Given the description of an element on the screen output the (x, y) to click on. 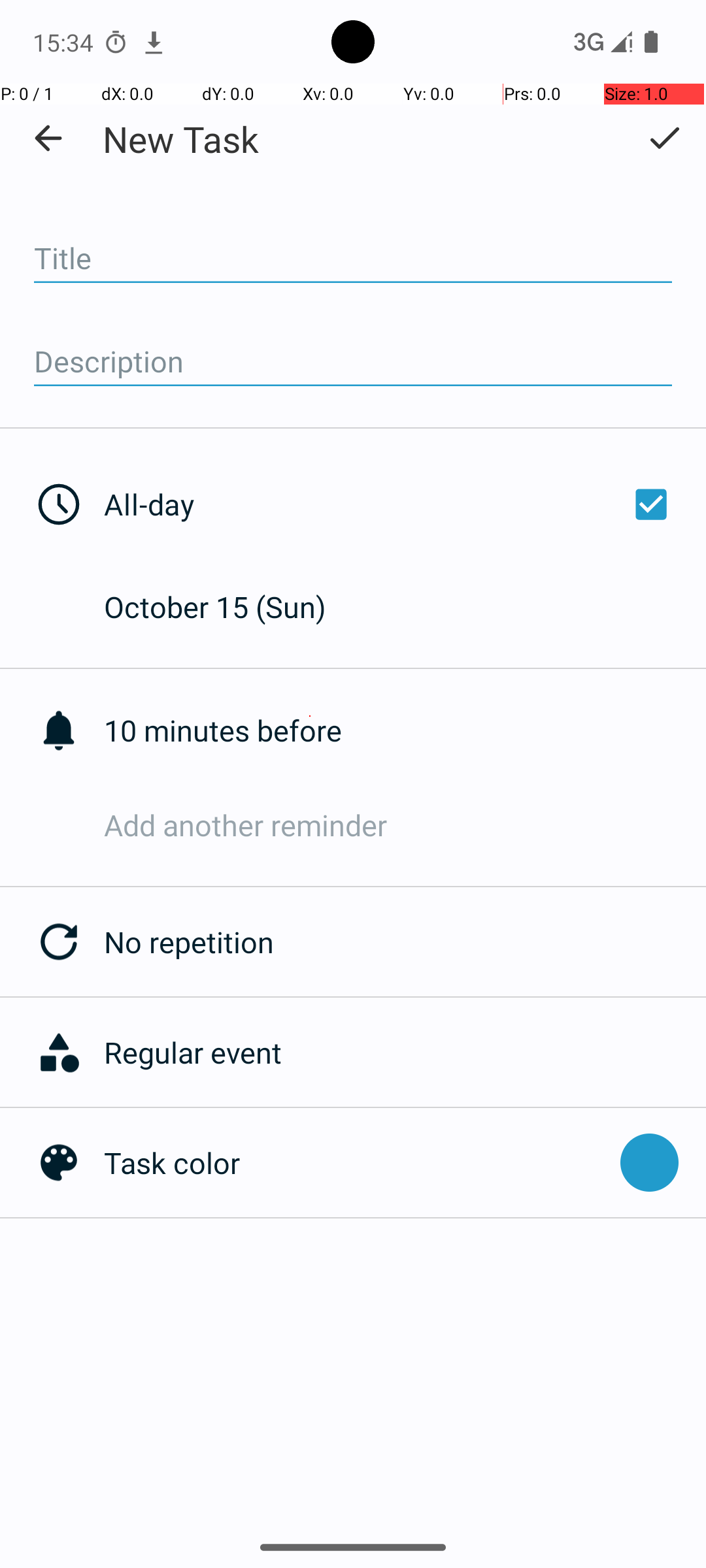
Task color Element type: android.widget.TextView (354, 1162)
